Given the description of an element on the screen output the (x, y) to click on. 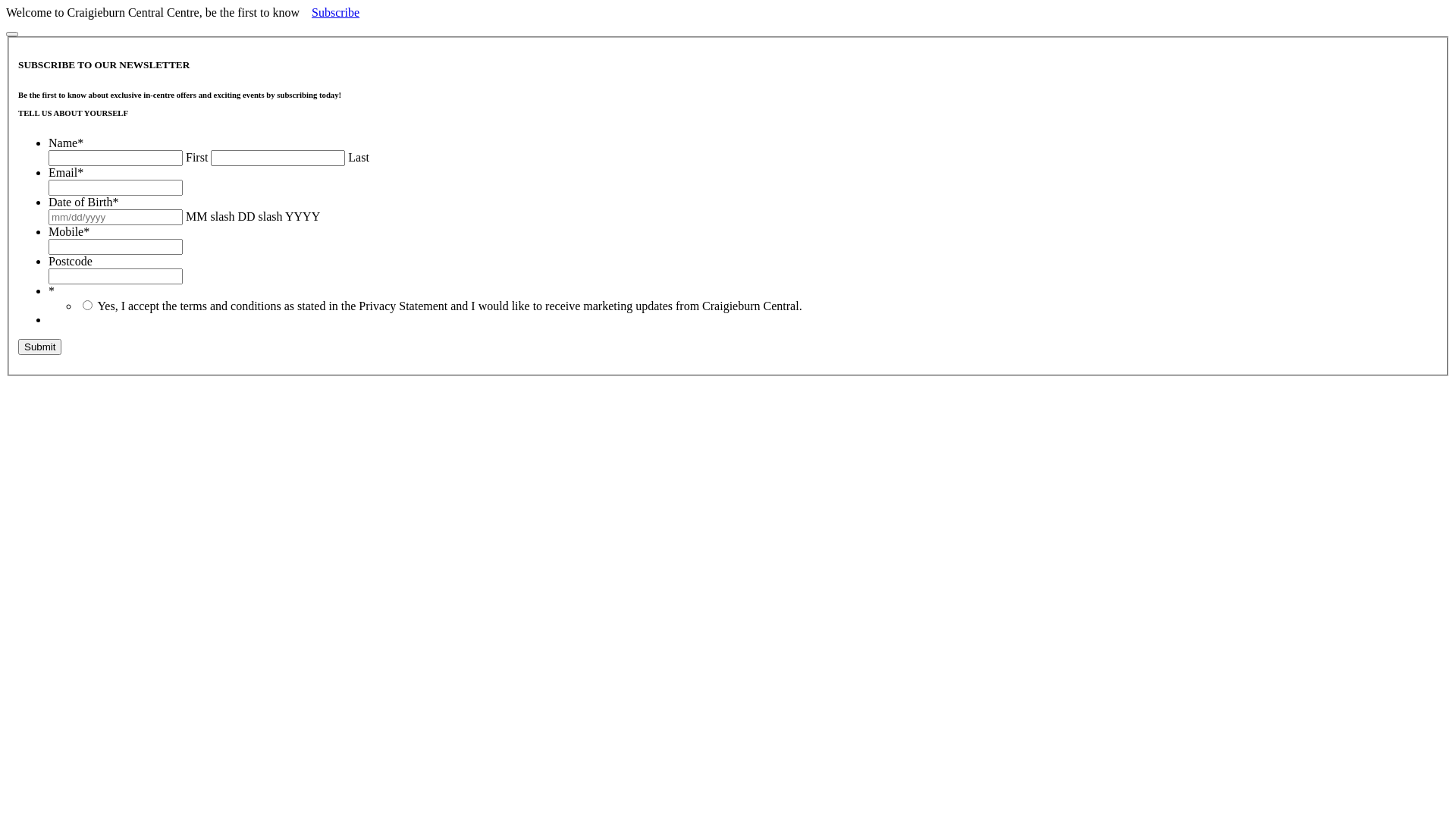
Submit Element type: text (39, 346)
Subscribe Element type: text (335, 12)
